Given the description of an element on the screen output the (x, y) to click on. 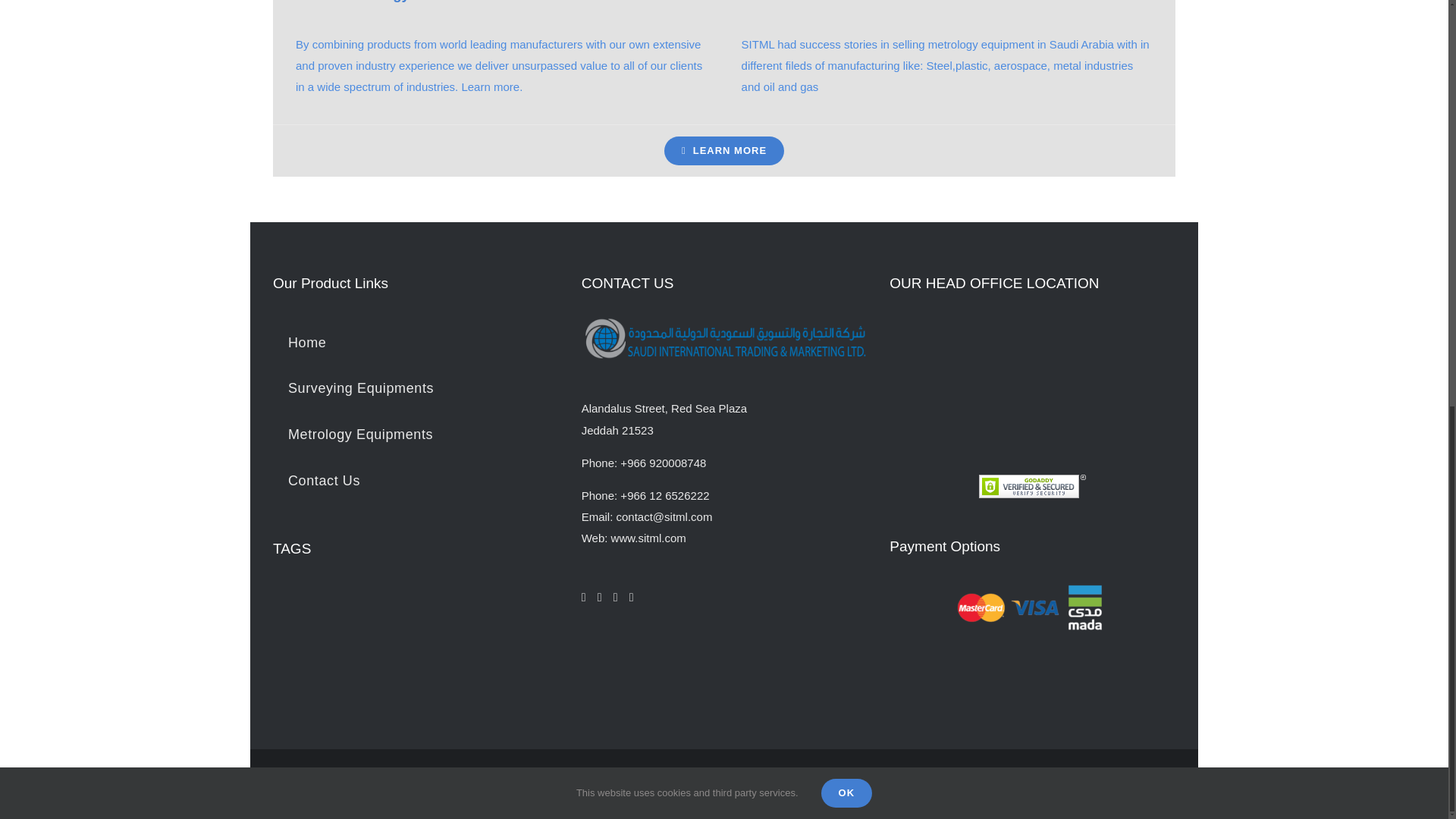
LEARN MORE (723, 150)
